Given the description of an element on the screen output the (x, y) to click on. 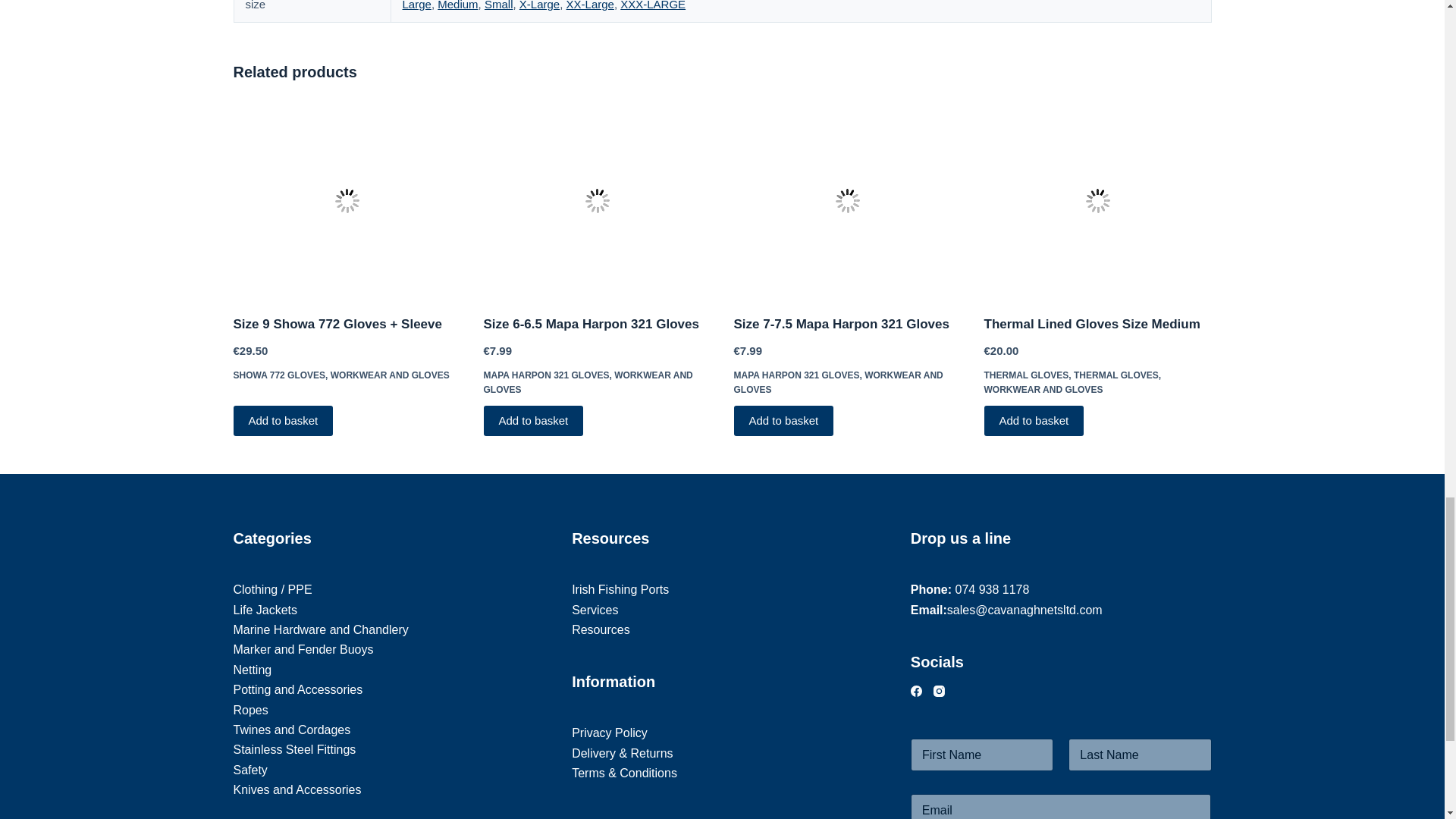
mapa321 (597, 200)
Showa772 (346, 200)
bnbluegloves (1097, 200)
mapa321 (846, 200)
